Given the description of an element on the screen output the (x, y) to click on. 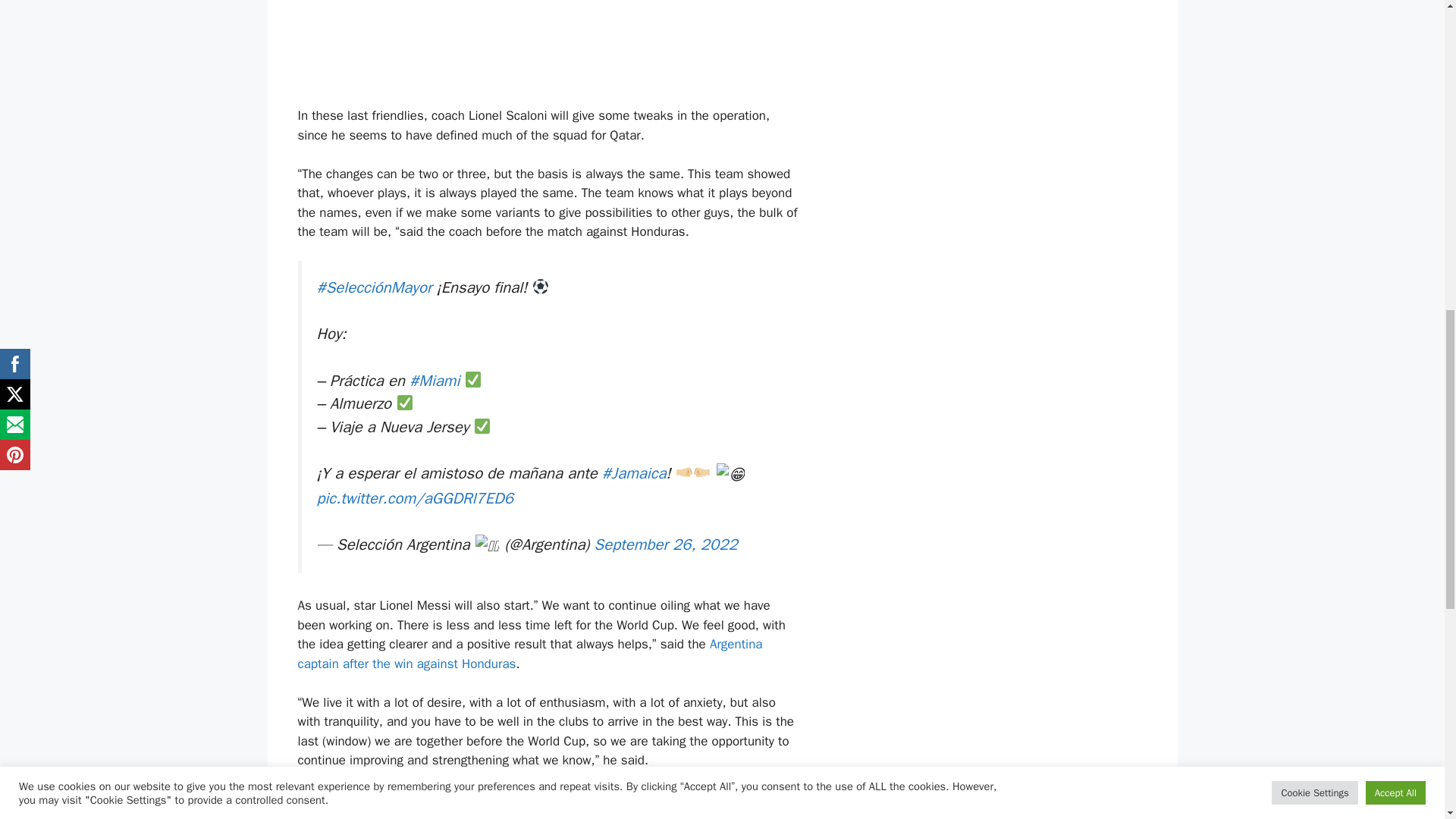
Scroll back to top (1406, 720)
September 26, 2022 (666, 544)
Argentina captain after the win against Honduras (529, 653)
Advertisement (548, 50)
